Given the description of an element on the screen output the (x, y) to click on. 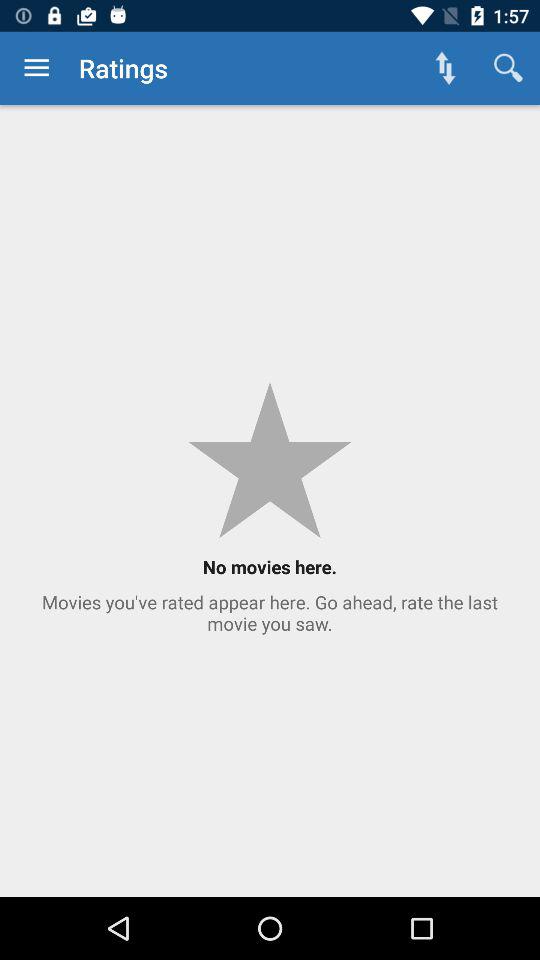
launch the icon next to ratings item (444, 67)
